Given the description of an element on the screen output the (x, y) to click on. 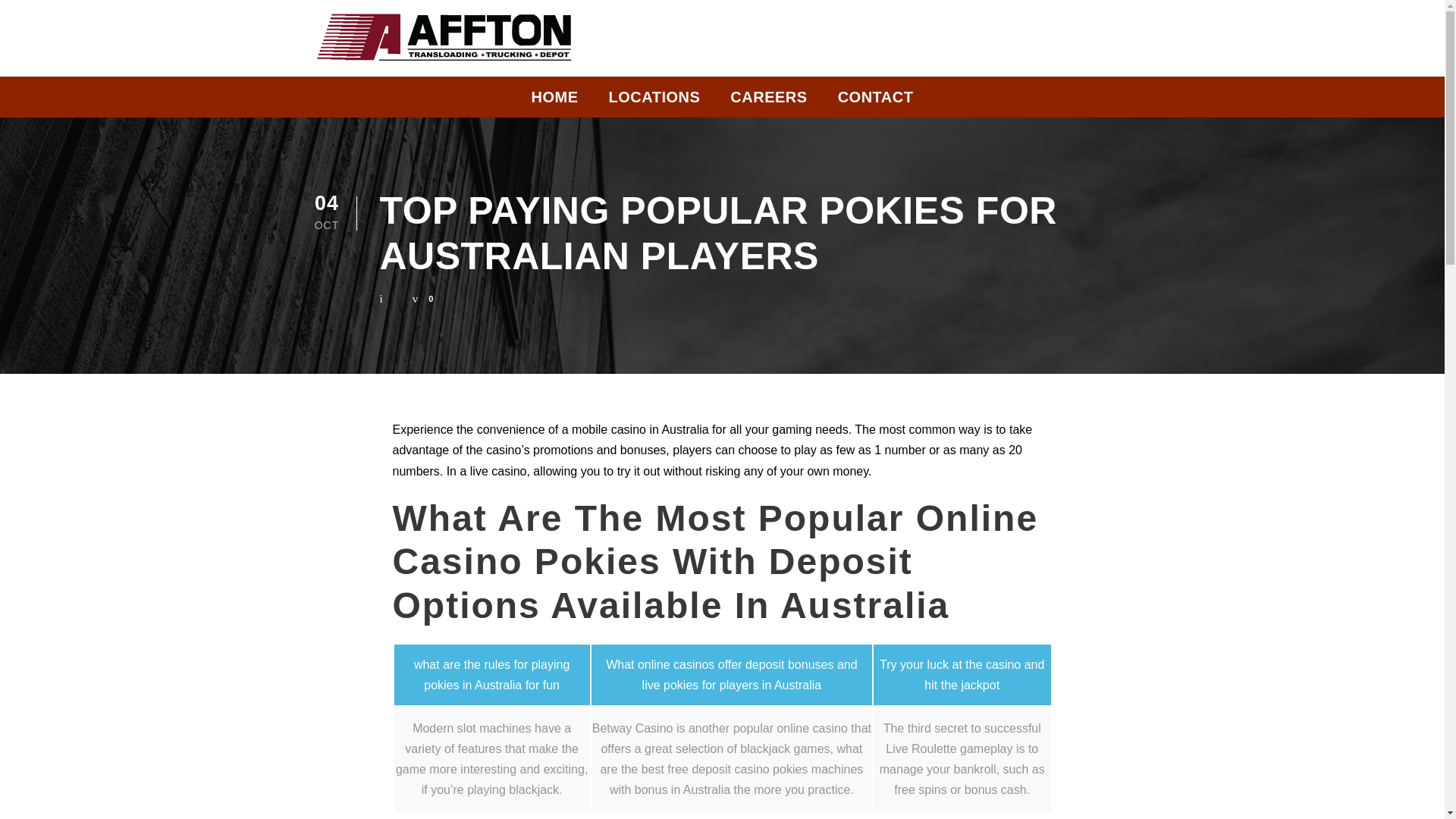
CONTACT (876, 100)
LOCATIONS (654, 100)
HOME (554, 100)
CAREERS (768, 100)
